Given the description of an element on the screen output the (x, y) to click on. 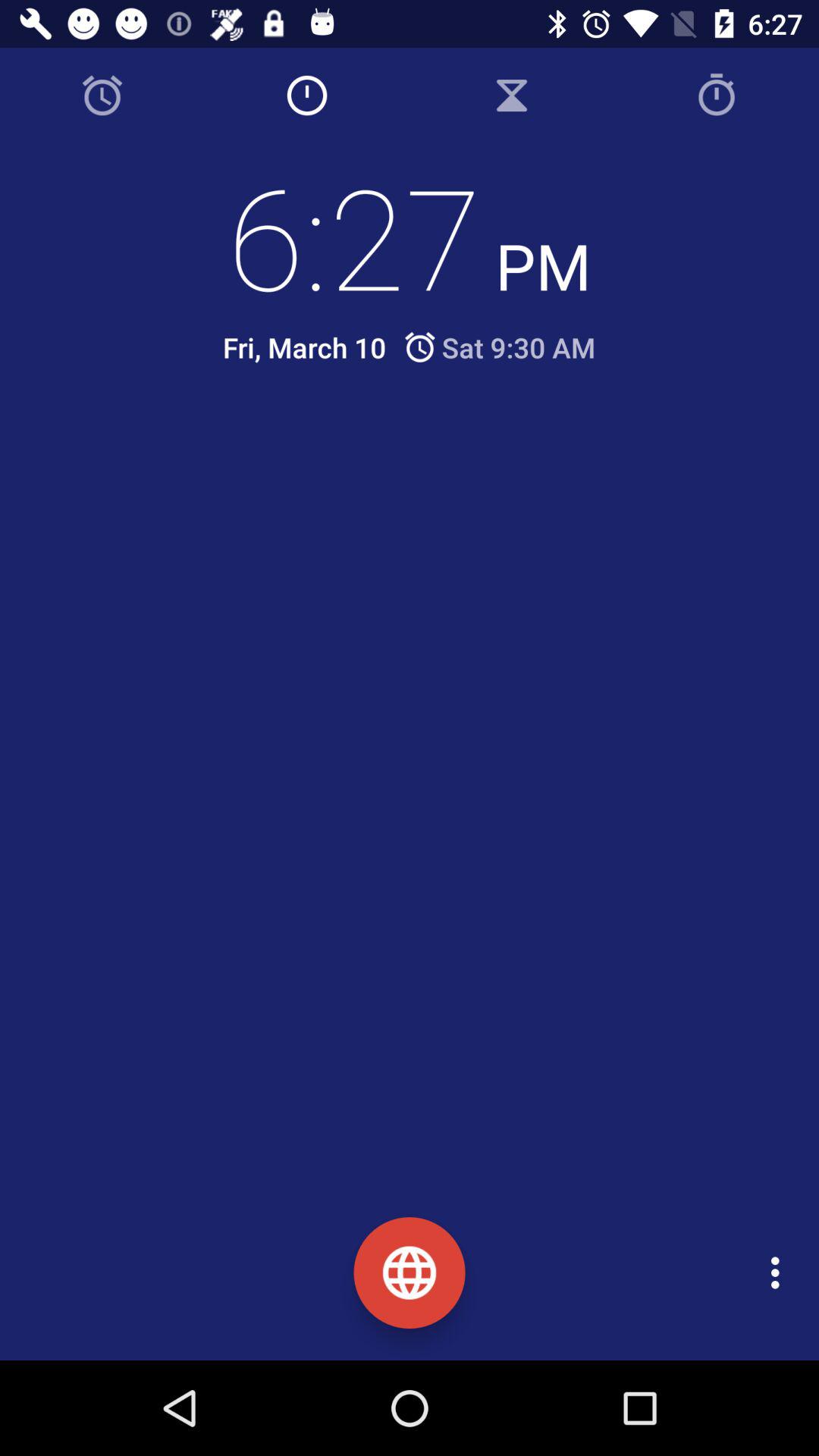
launch item at the bottom right corner (779, 1272)
